Given the description of an element on the screen output the (x, y) to click on. 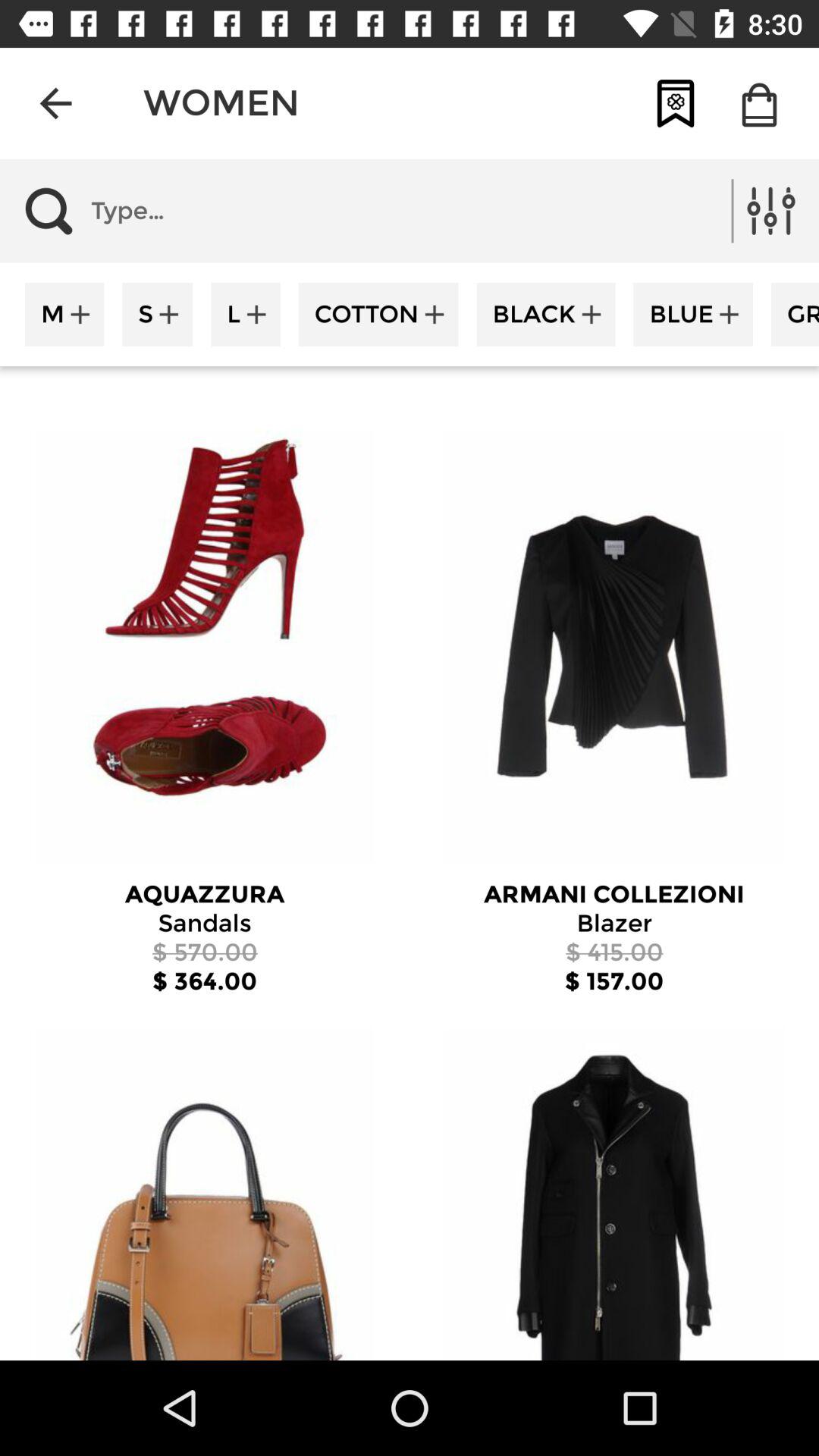
open item above the m icon (210, 210)
